Given the description of an element on the screen output the (x, y) to click on. 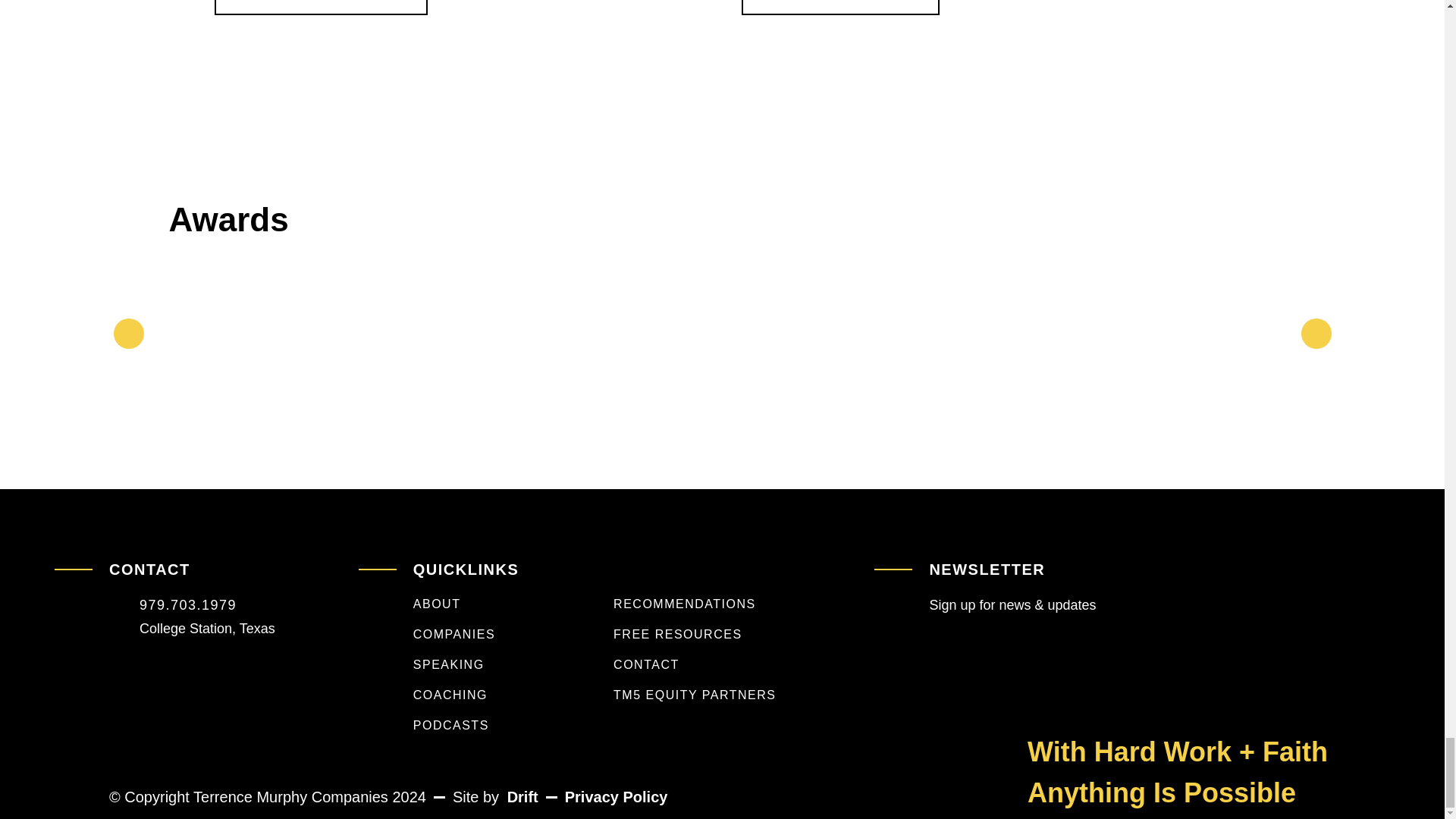
FREE RESOURCES (694, 634)
SPEAKING (494, 664)
PODCASTS (494, 725)
COACHING (494, 694)
ABOUT (494, 603)
RECOMMENDATIONS (694, 603)
COMPANIES (494, 634)
CONTACT (694, 664)
SEE ALL COURSES (840, 7)
LISTEN TO PODCAST (320, 7)
979.703.1979 (187, 605)
